Given the description of an element on the screen output the (x, y) to click on. 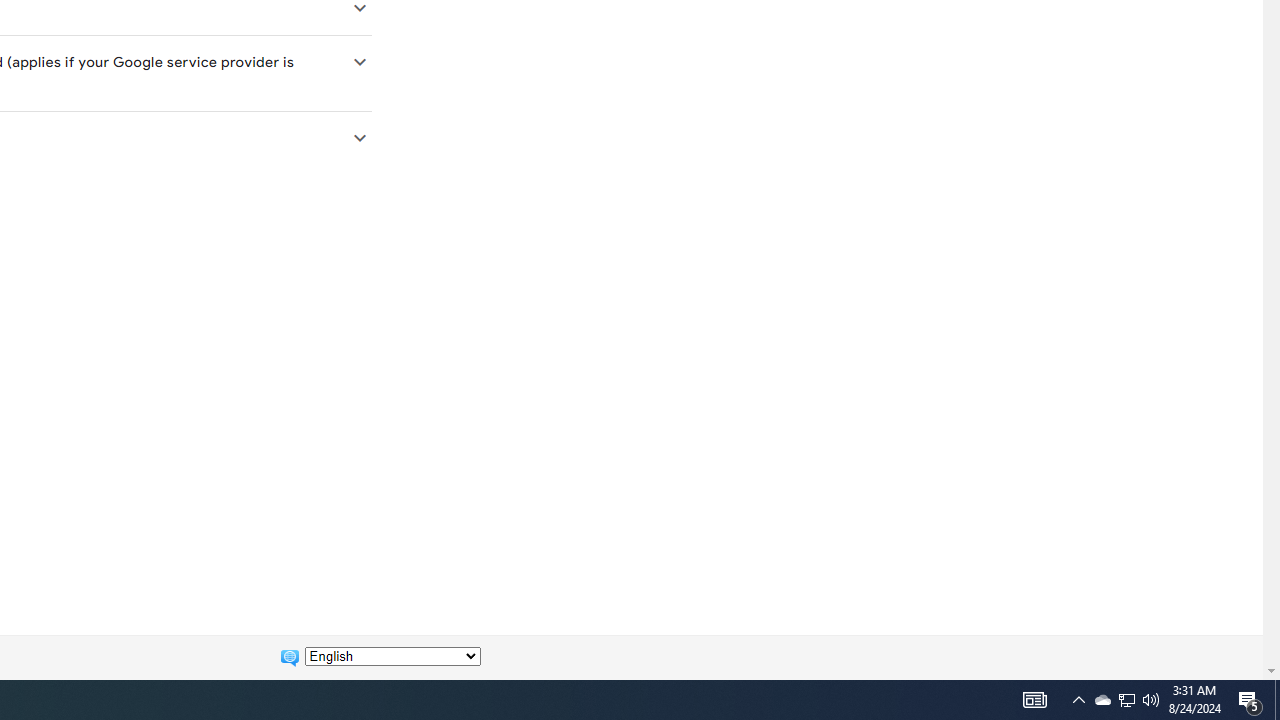
Change language: (392, 656)
